Given the description of an element on the screen output the (x, y) to click on. 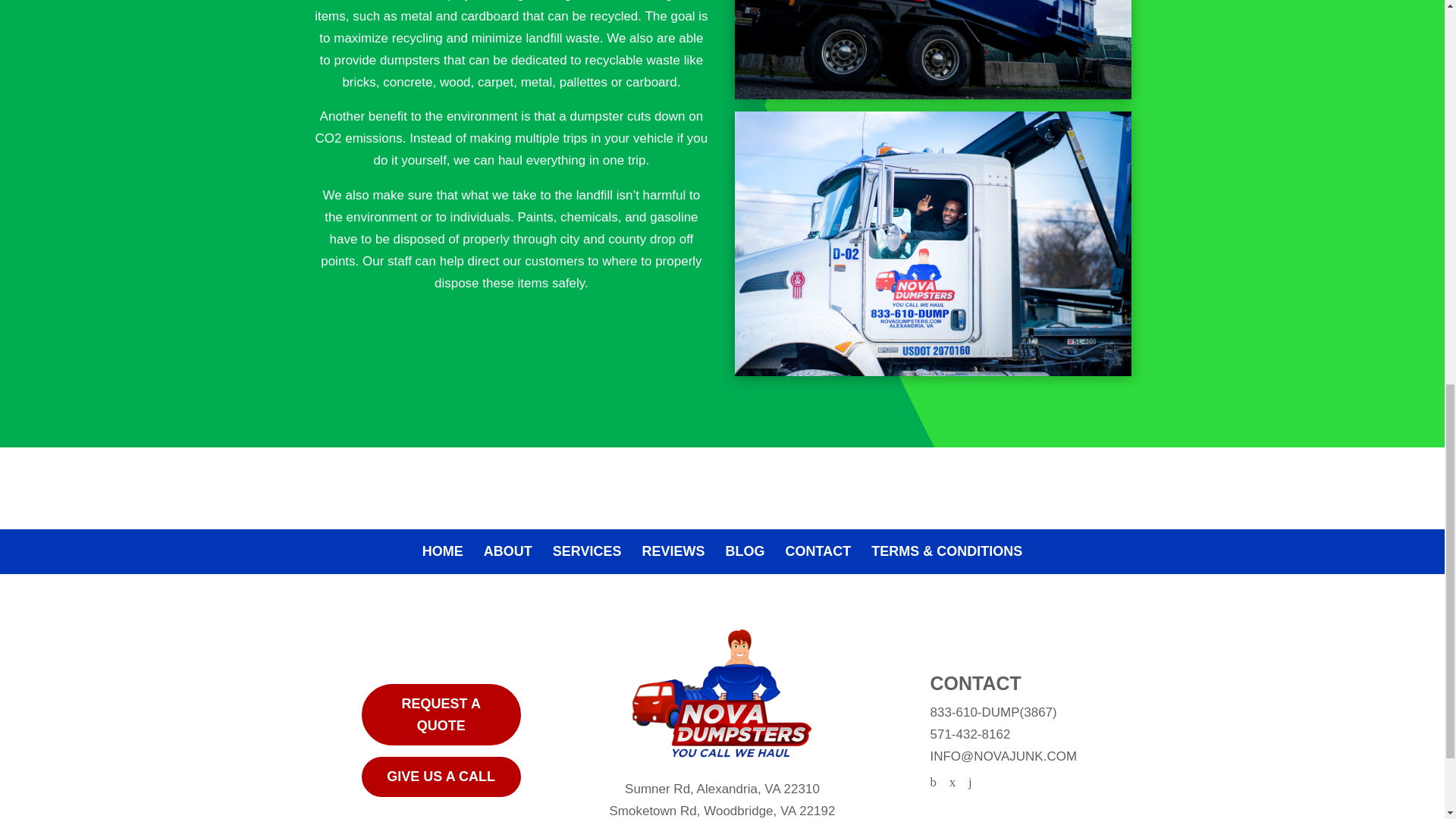
HOME (442, 550)
REVIEWS (673, 550)
Sumner Rd, Alexandria, VA 22310 (721, 789)
BLOG (745, 550)
Smoketown Rd, Woodbridge, VA 22192 (721, 810)
571-432-8162 (970, 734)
ABOUT (507, 550)
CONTACT (818, 550)
REQUEST A QUOTE (441, 714)
SERVICES (587, 550)
